Given the description of an element on the screen output the (x, y) to click on. 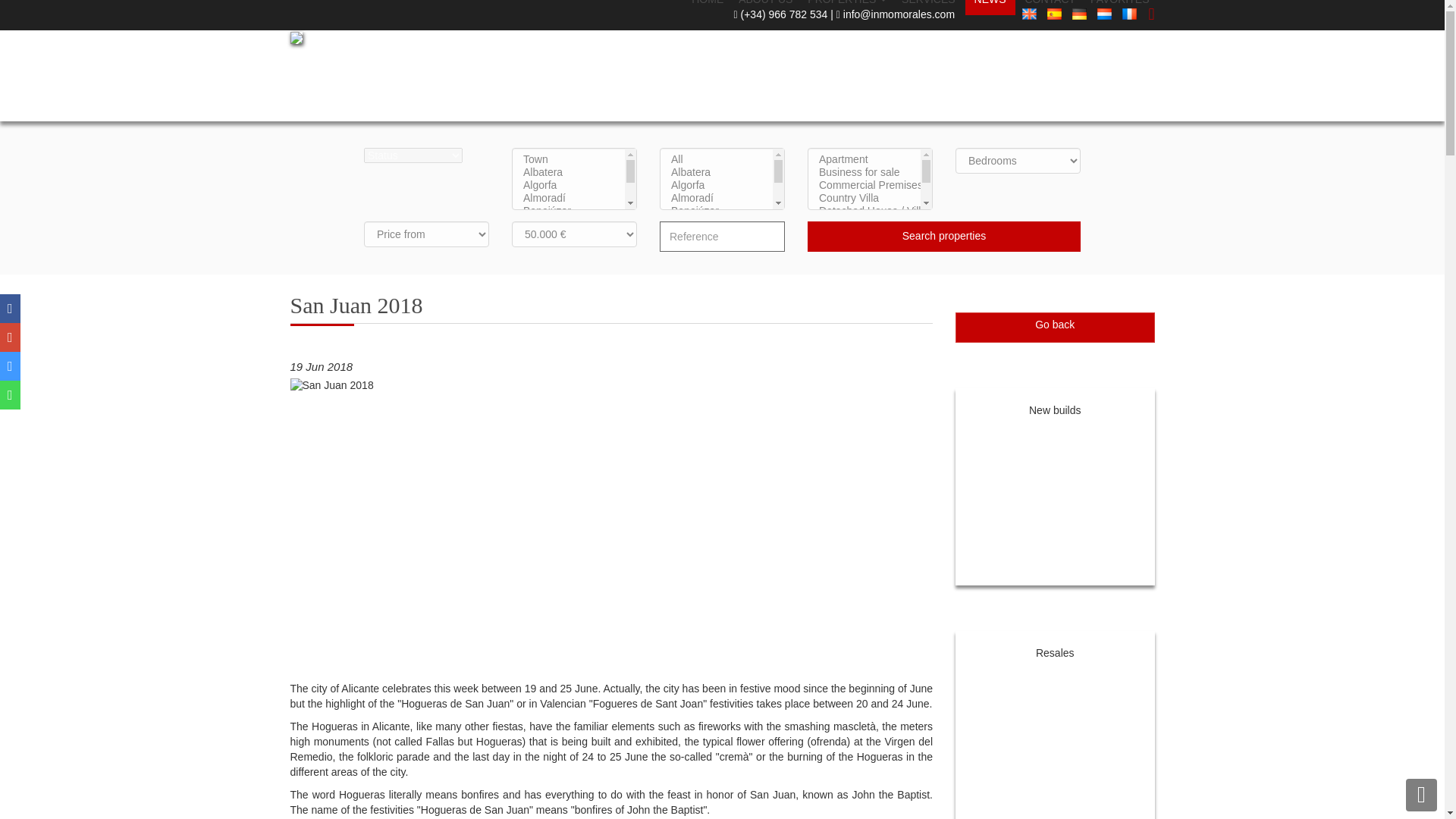
Go back (1054, 327)
NEWS (989, 3)
ABOUT US (764, 3)
PROPERTIES (847, 3)
HOME (707, 3)
FAVORITES (1120, 3)
CONTACT (1050, 3)
SERVICES (927, 3)
Search properties (944, 236)
